Given the description of an element on the screen output the (x, y) to click on. 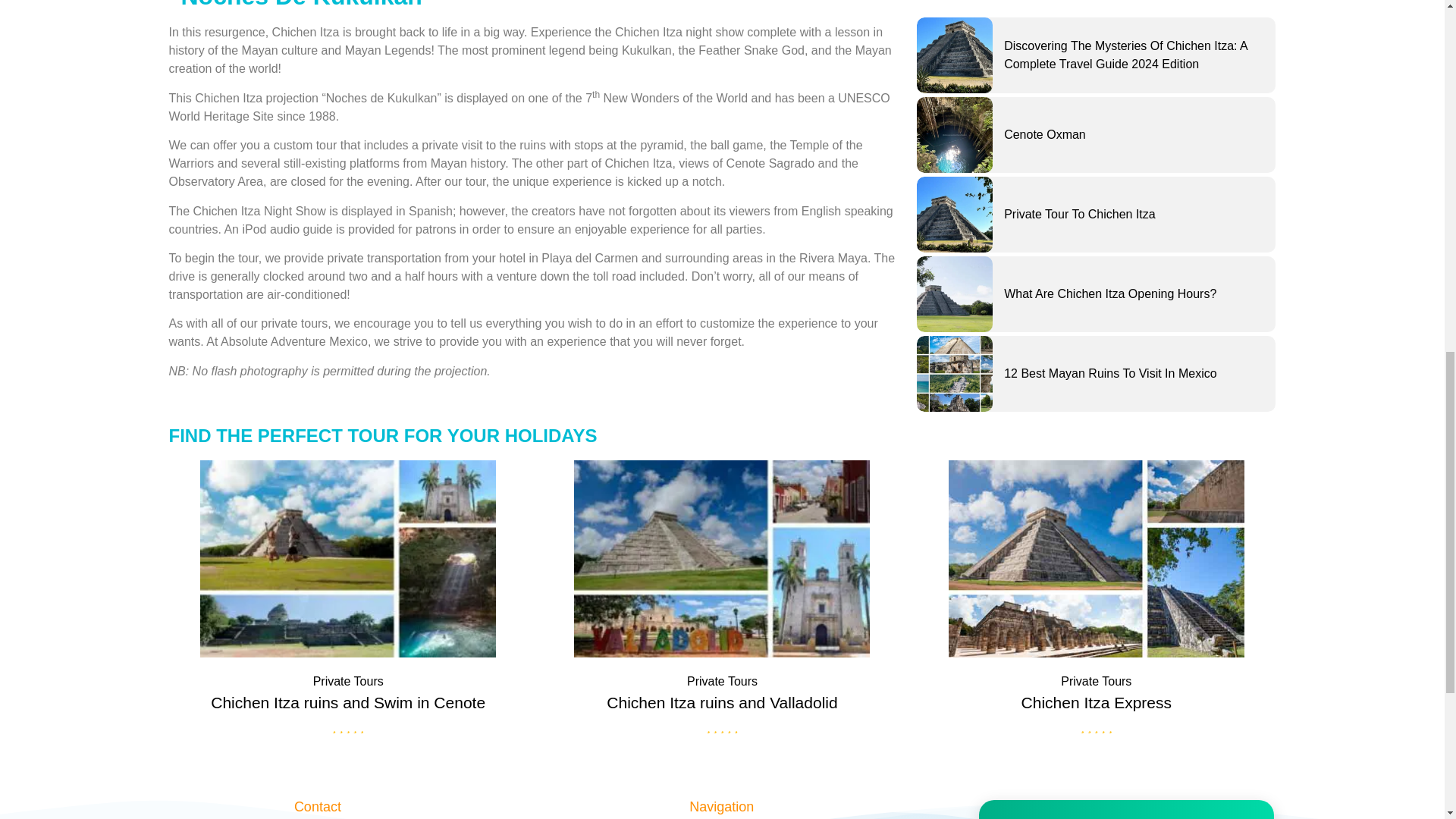
Private Tour to Chichen Itza (1080, 214)
What are Chichen Itza opening hours? (954, 294)
chichen itza valladolid private tour (722, 558)
12 Best Mayan Ruins to Visit in Mexico (1109, 373)
Cenote Oxman (1045, 133)
12 Best Mayan Ruins to Visit in Mexico (954, 373)
What are Chichen Itza opening hours? (1109, 293)
Private Tour to Chichen Itza (954, 214)
Cenote Oxman (954, 134)
Chichen Itza express private tour (1096, 558)
chichen itza cenote private tour (347, 558)
